Given the description of an element on the screen output the (x, y) to click on. 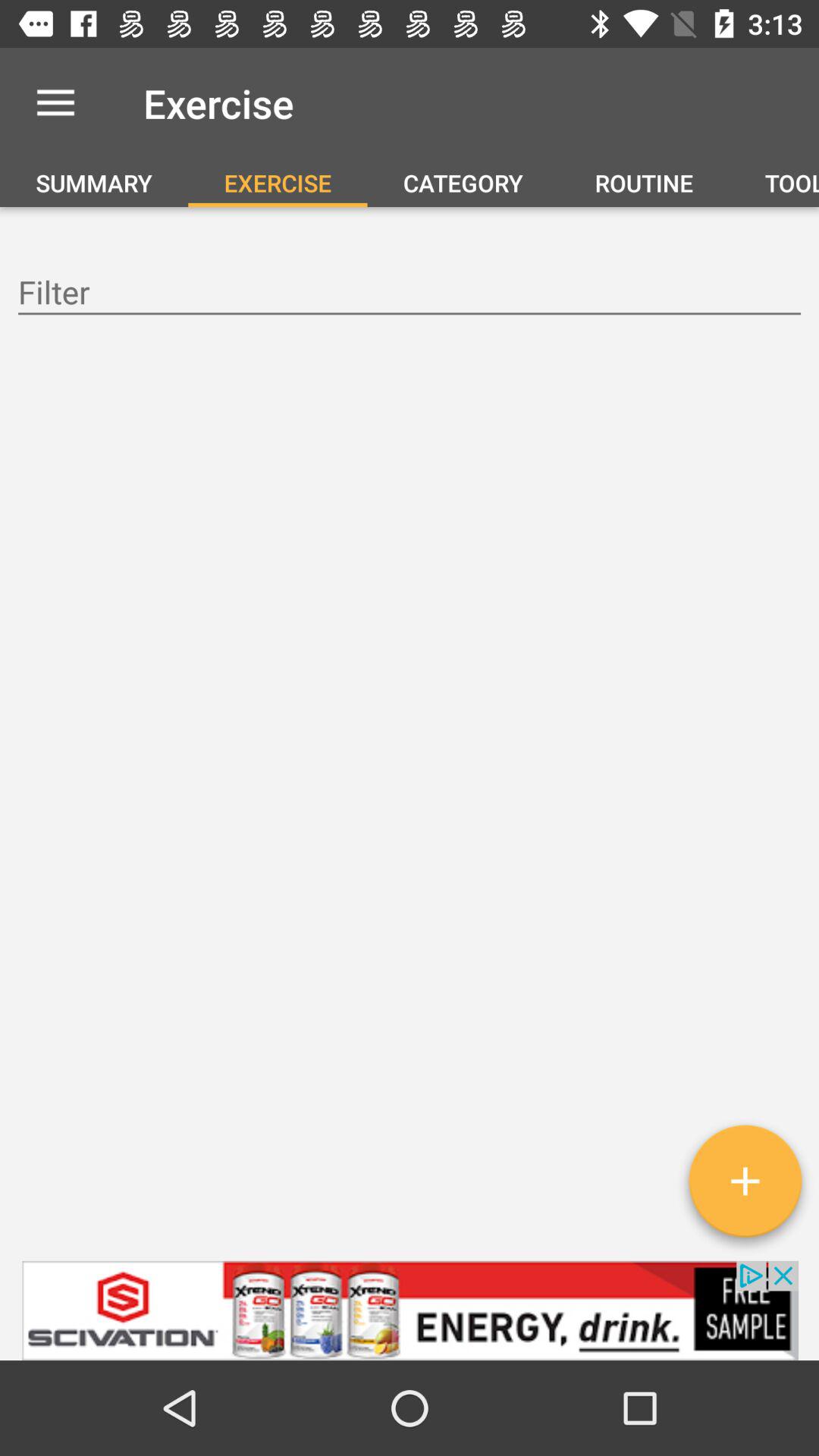
adds an exercise (745, 1186)
